Given the description of an element on the screen output the (x, y) to click on. 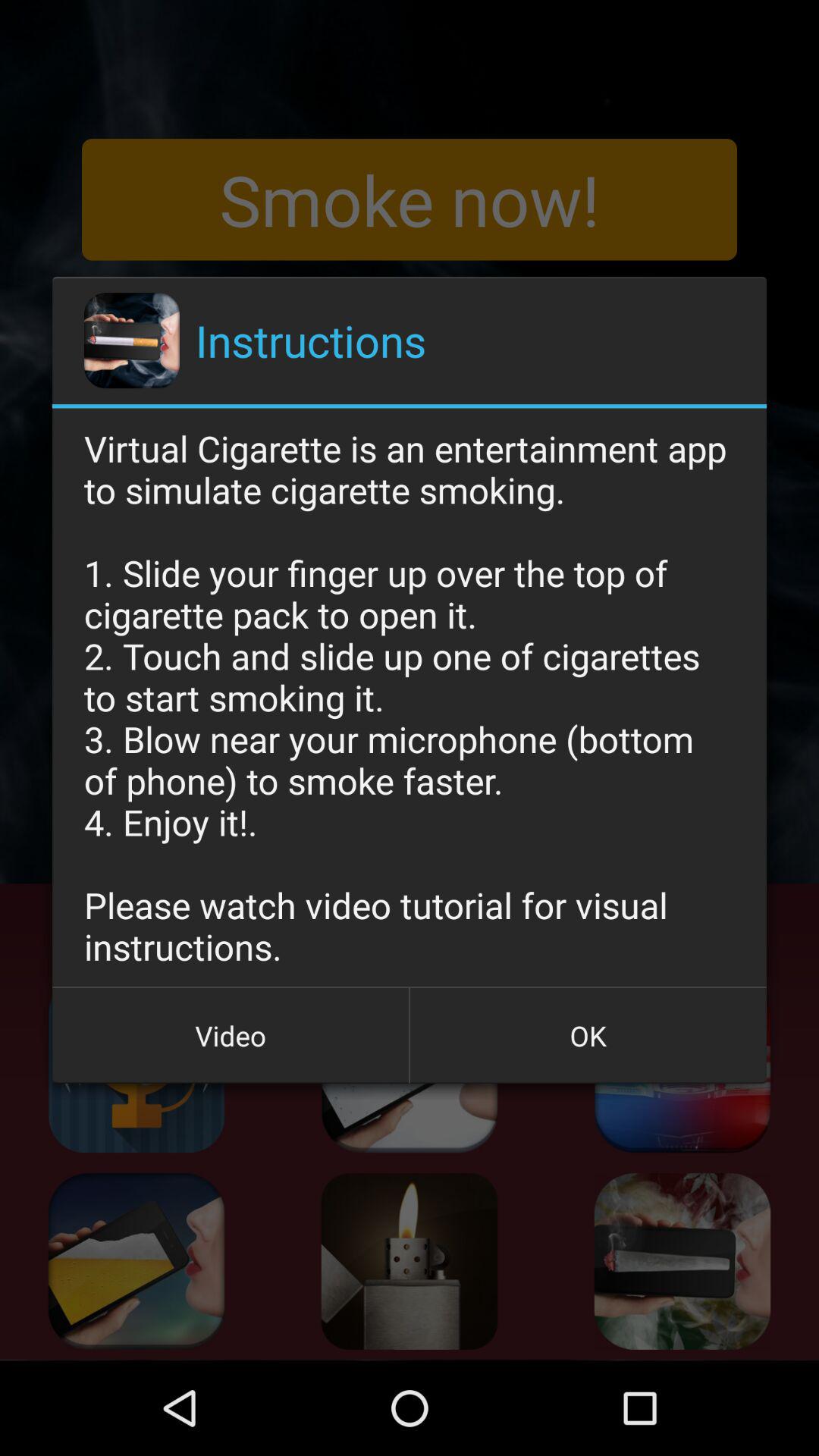
press video button (230, 1035)
